Given the description of an element on the screen output the (x, y) to click on. 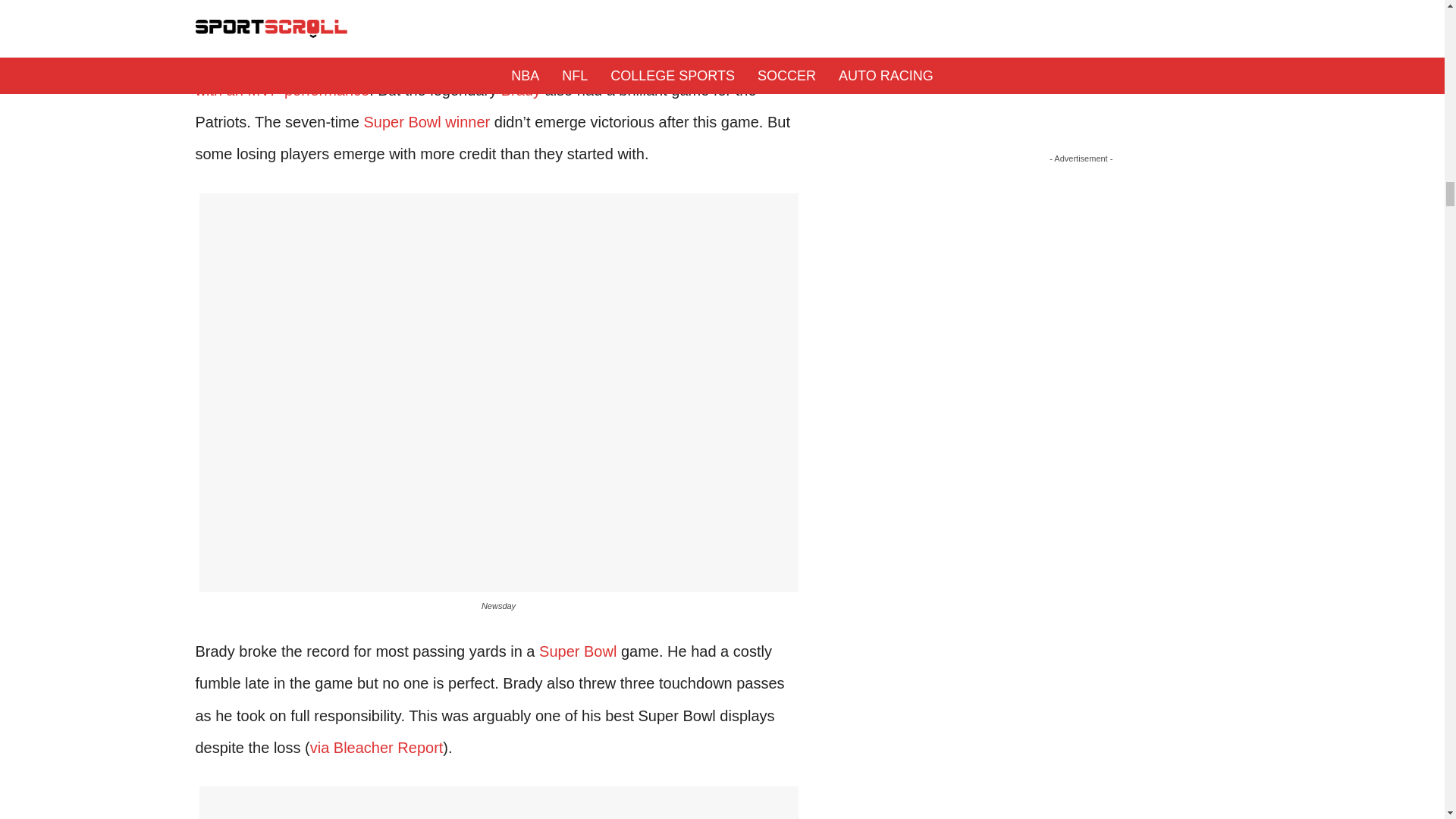
Brady (520, 89)
stepped up with an MVP performance (490, 73)
